Given the description of an element on the screen output the (x, y) to click on. 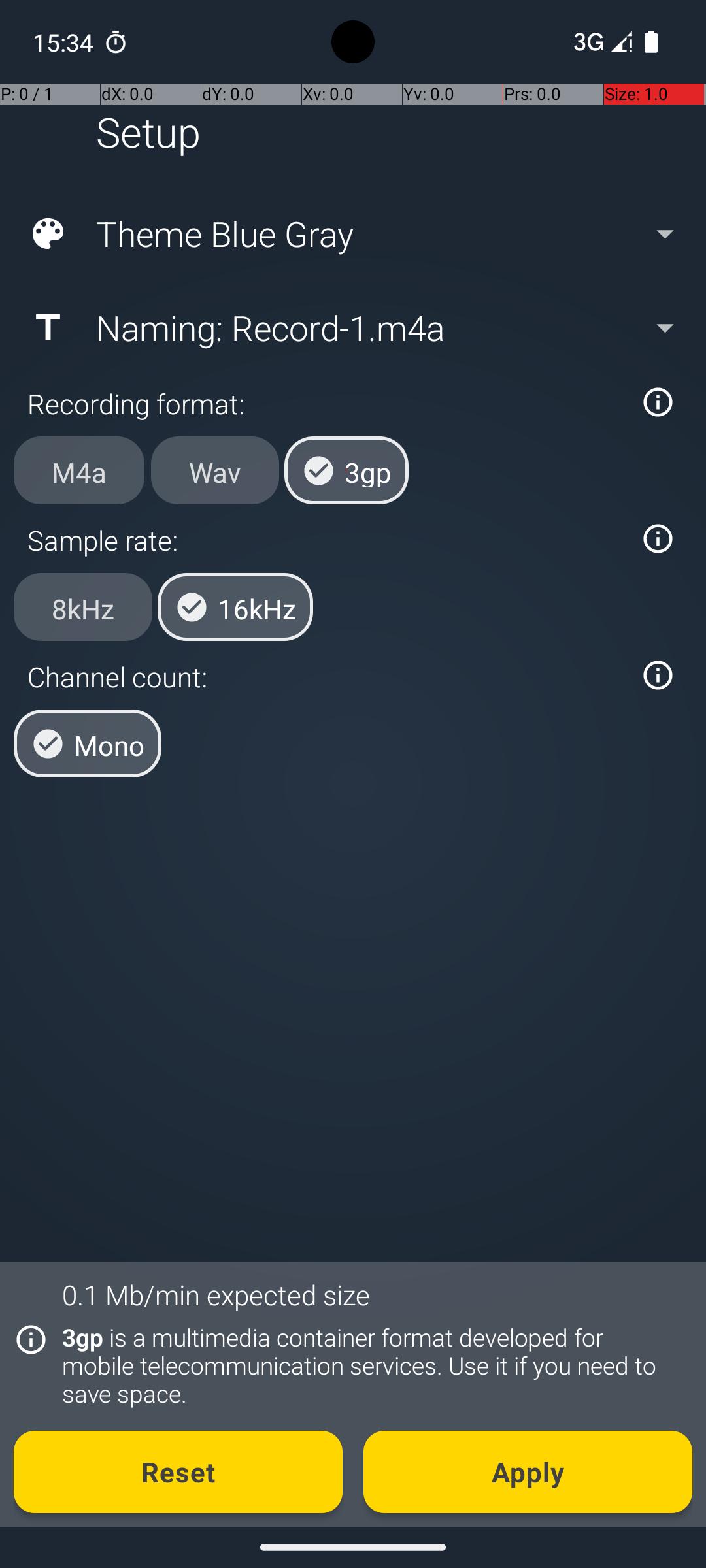
0.1 Mb/min expected size Element type: android.widget.TextView (215, 1294)
3gp is a multimedia container format developed for mobile telecommunication services. Use it if you need to save space. Element type: android.widget.TextView (370, 1364)
